Given the description of an element on the screen output the (x, y) to click on. 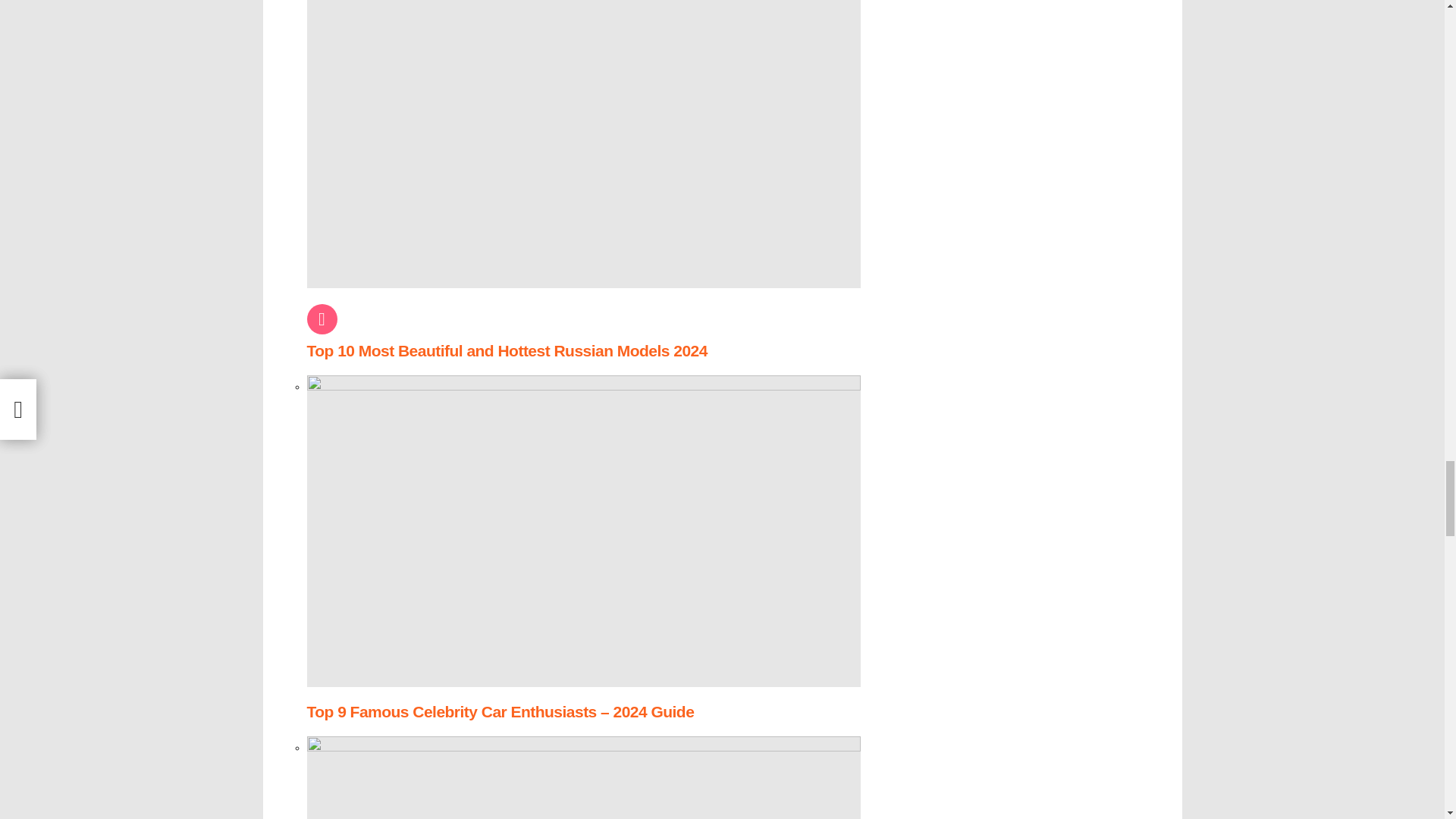
Top 10 Most Beautiful and Hottest Russian Models 2024 (505, 350)
Popular (320, 318)
Popular (320, 318)
